Given the description of an element on the screen output the (x, y) to click on. 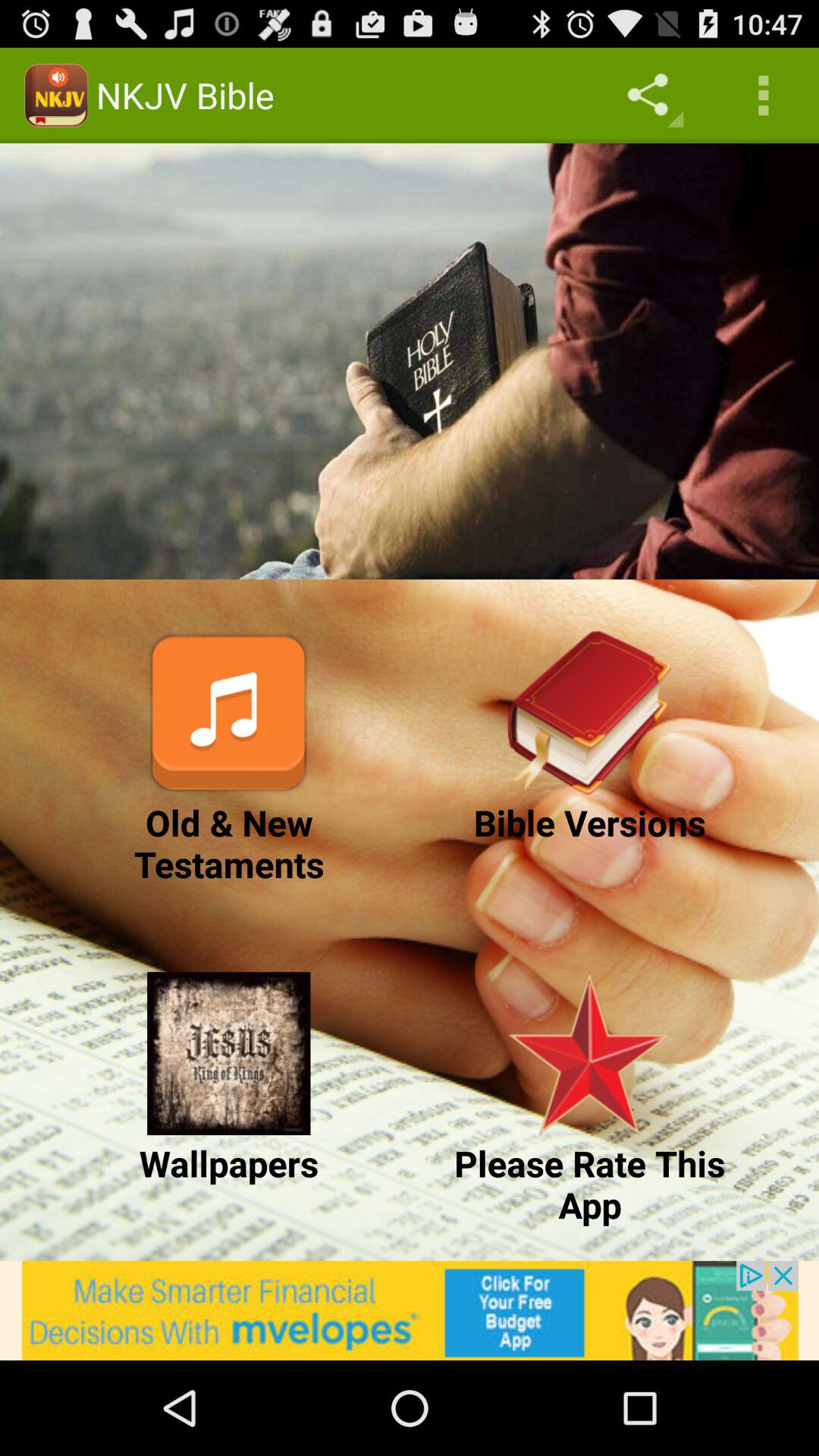
click to view advertisements options (409, 1310)
